Given the description of an element on the screen output the (x, y) to click on. 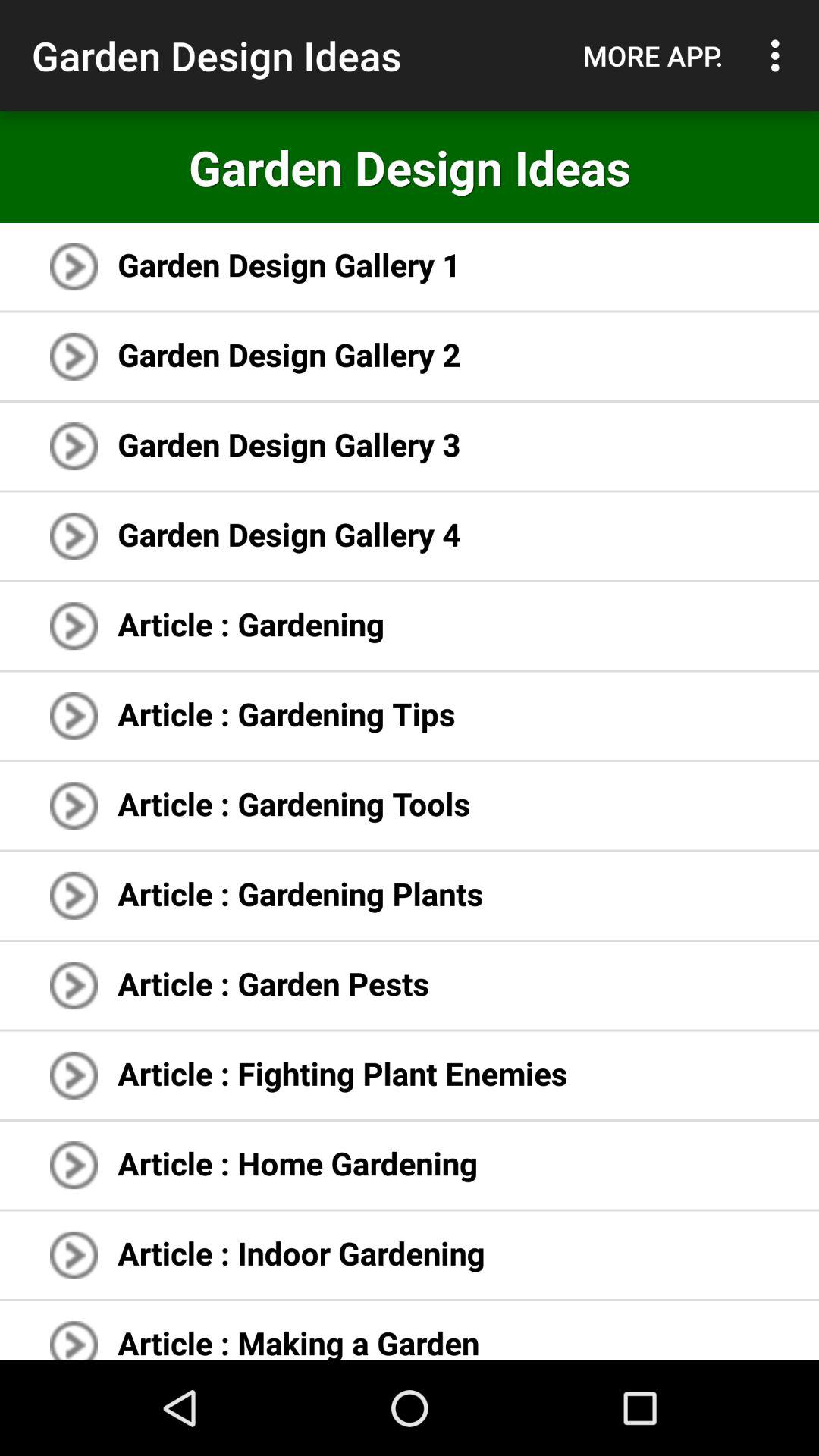
turn off the item to the right of the more app. item (779, 55)
